Given the description of an element on the screen output the (x, y) to click on. 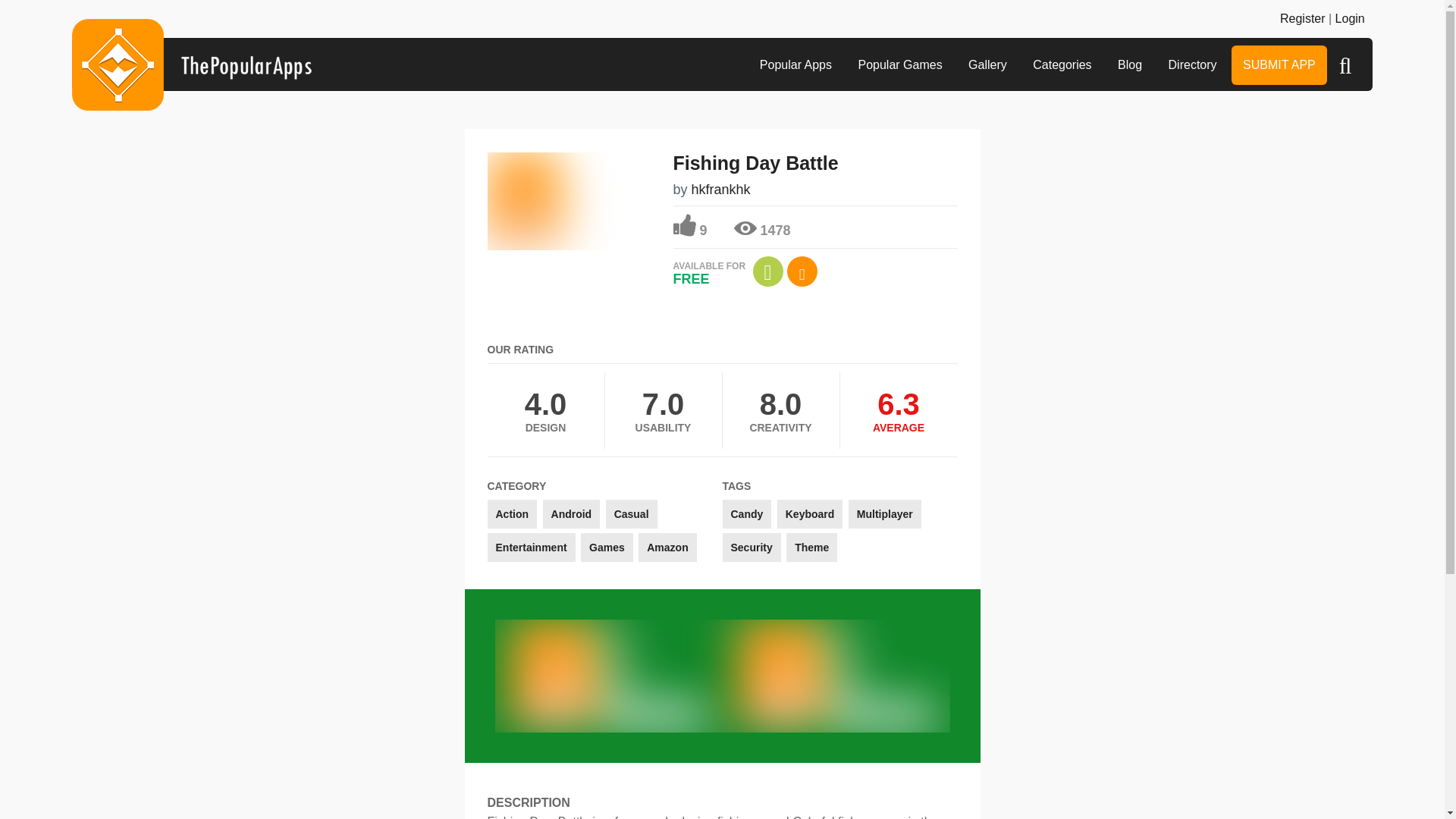
Multiplayer (884, 513)
SUBMIT APP (1278, 65)
Android (571, 513)
Candy (746, 513)
Casual (631, 513)
Theme (811, 547)
Categories (1062, 65)
Security (751, 547)
Login (1350, 18)
Gallery (986, 65)
9 (689, 226)
Games (606, 547)
Action (511, 513)
Popular Apps (795, 65)
Keyboard (810, 513)
